Given the description of an element on the screen output the (x, y) to click on. 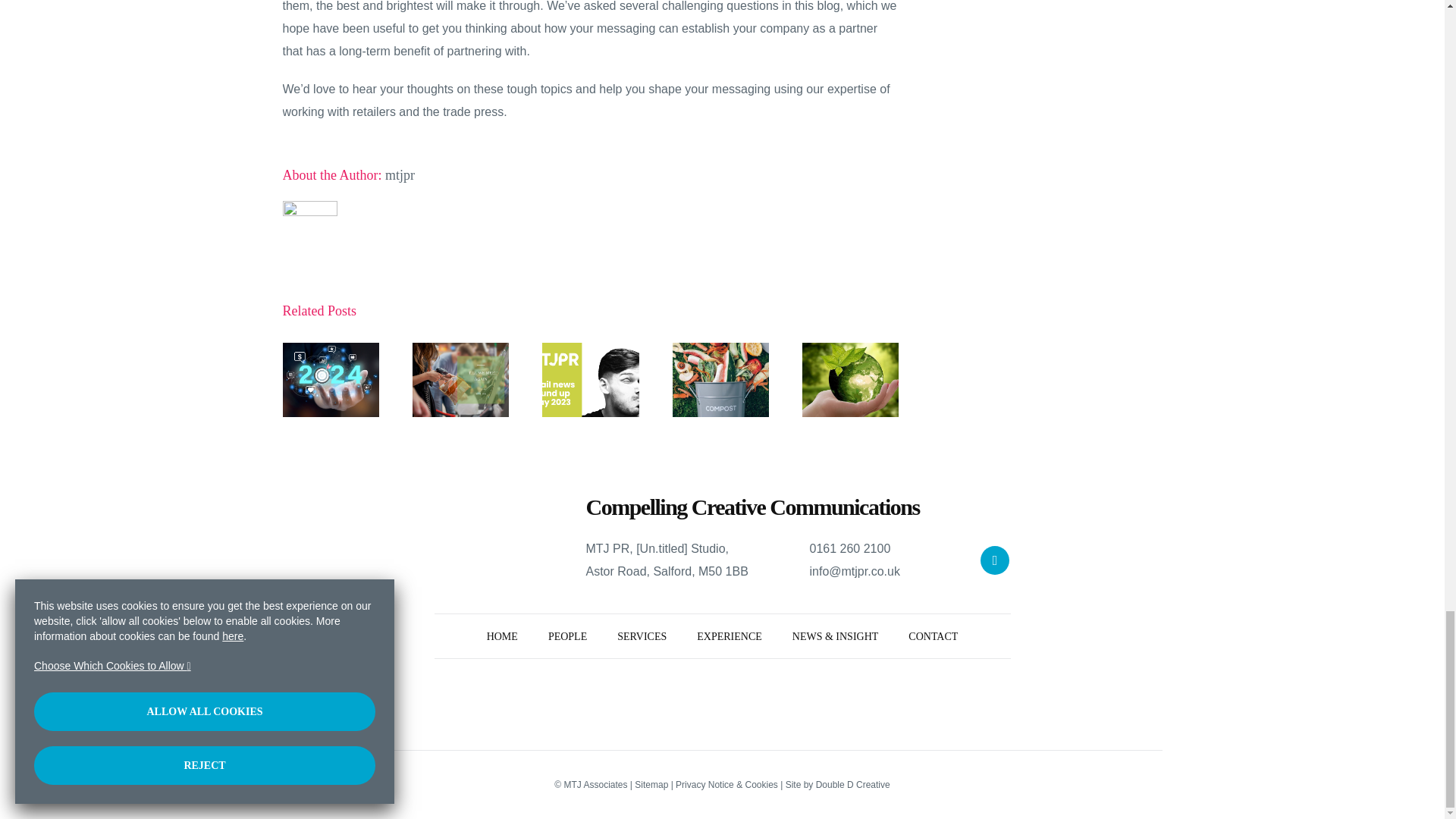
Posts by mtjpr (399, 174)
MTJ Associates (502, 636)
X (994, 560)
